Given the description of an element on the screen output the (x, y) to click on. 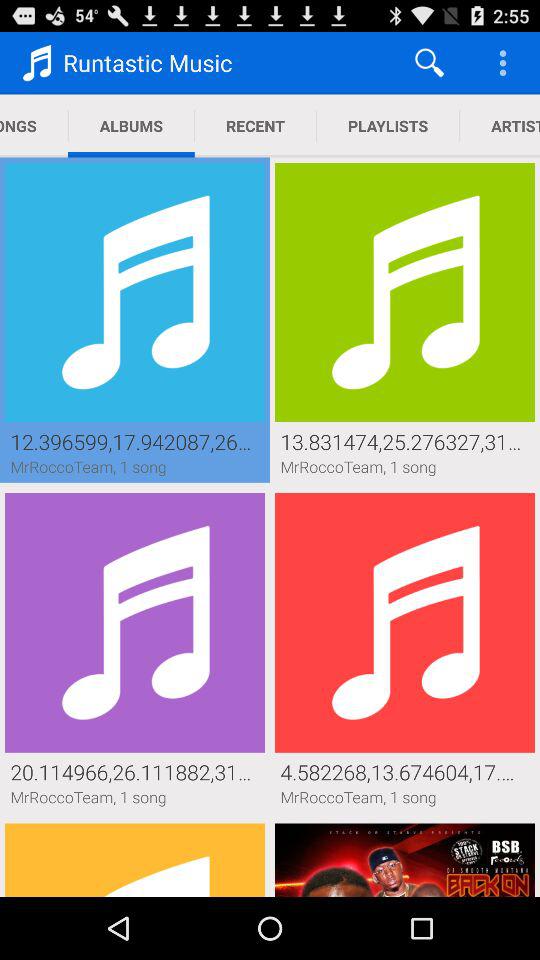
click app below runtastic music (131, 125)
